Given the description of an element on the screen output the (x, y) to click on. 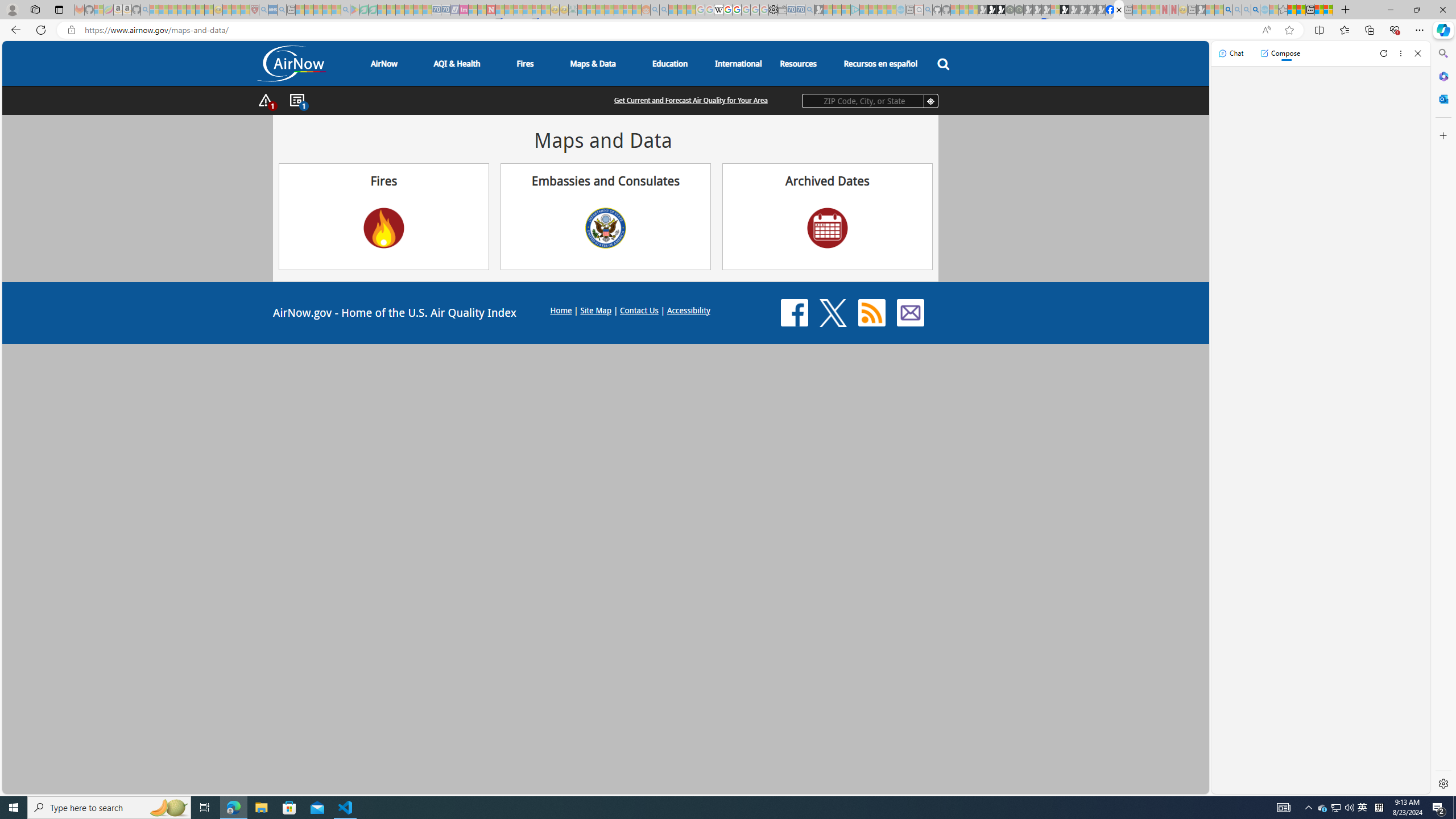
Future Focus Report 2024 - Sleeping (1018, 9)
Bing AI - Search (1227, 9)
Contact Us (638, 309)
